Given the description of an element on the screen output the (x, y) to click on. 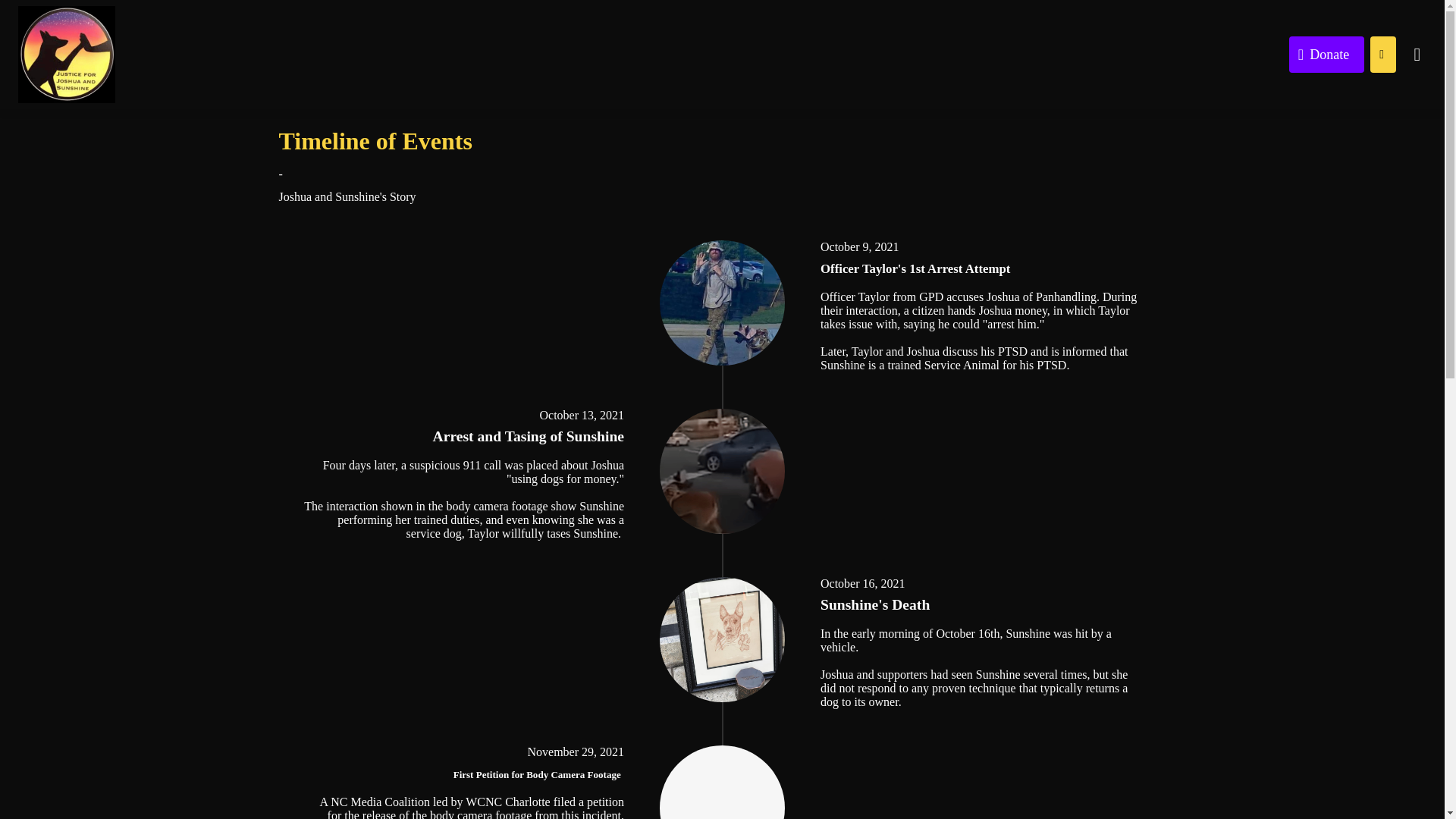
Donate (1326, 54)
